Given the description of an element on the screen output the (x, y) to click on. 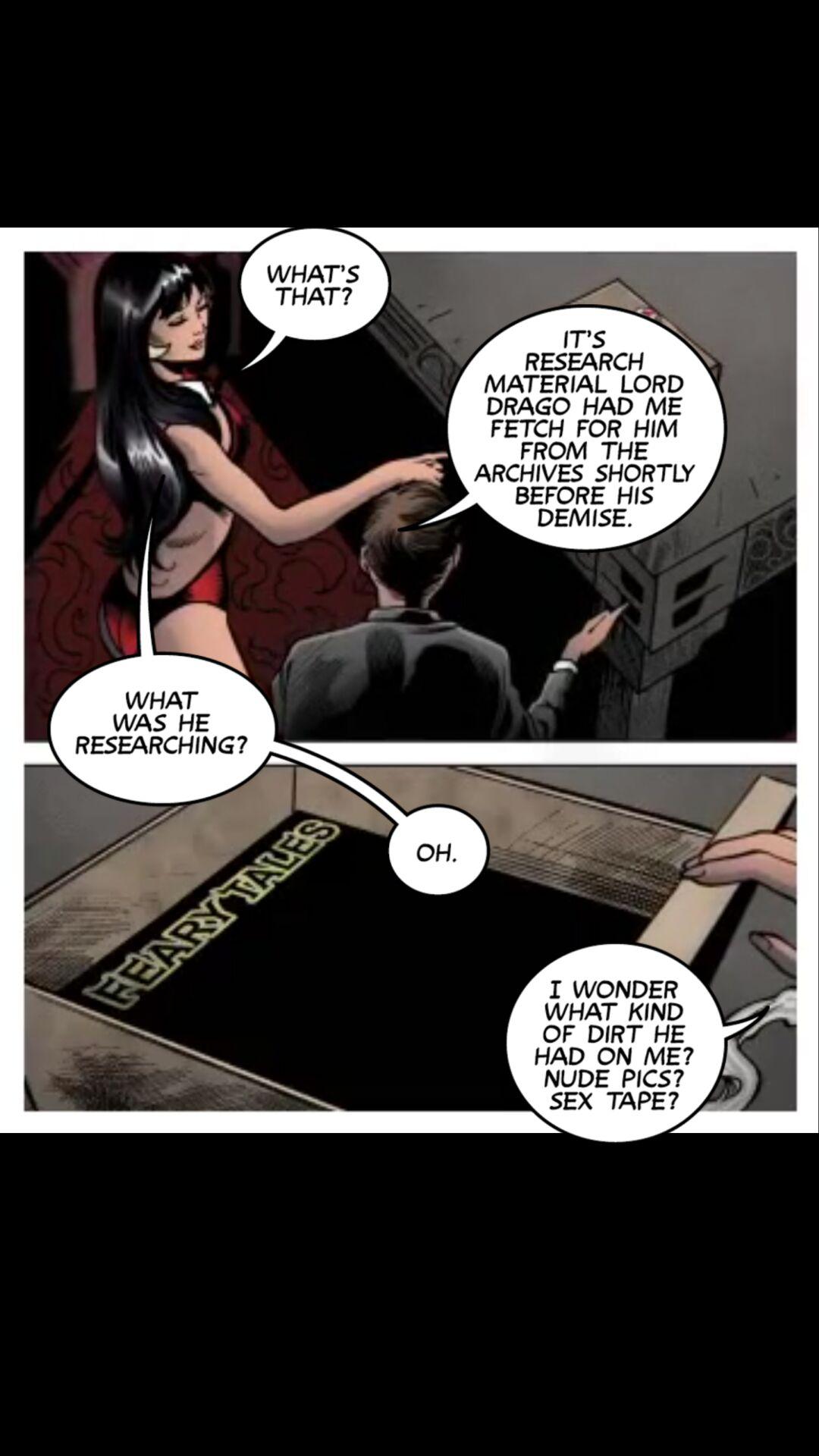
for comics (306, 302)
